Given the description of an element on the screen output the (x, y) to click on. 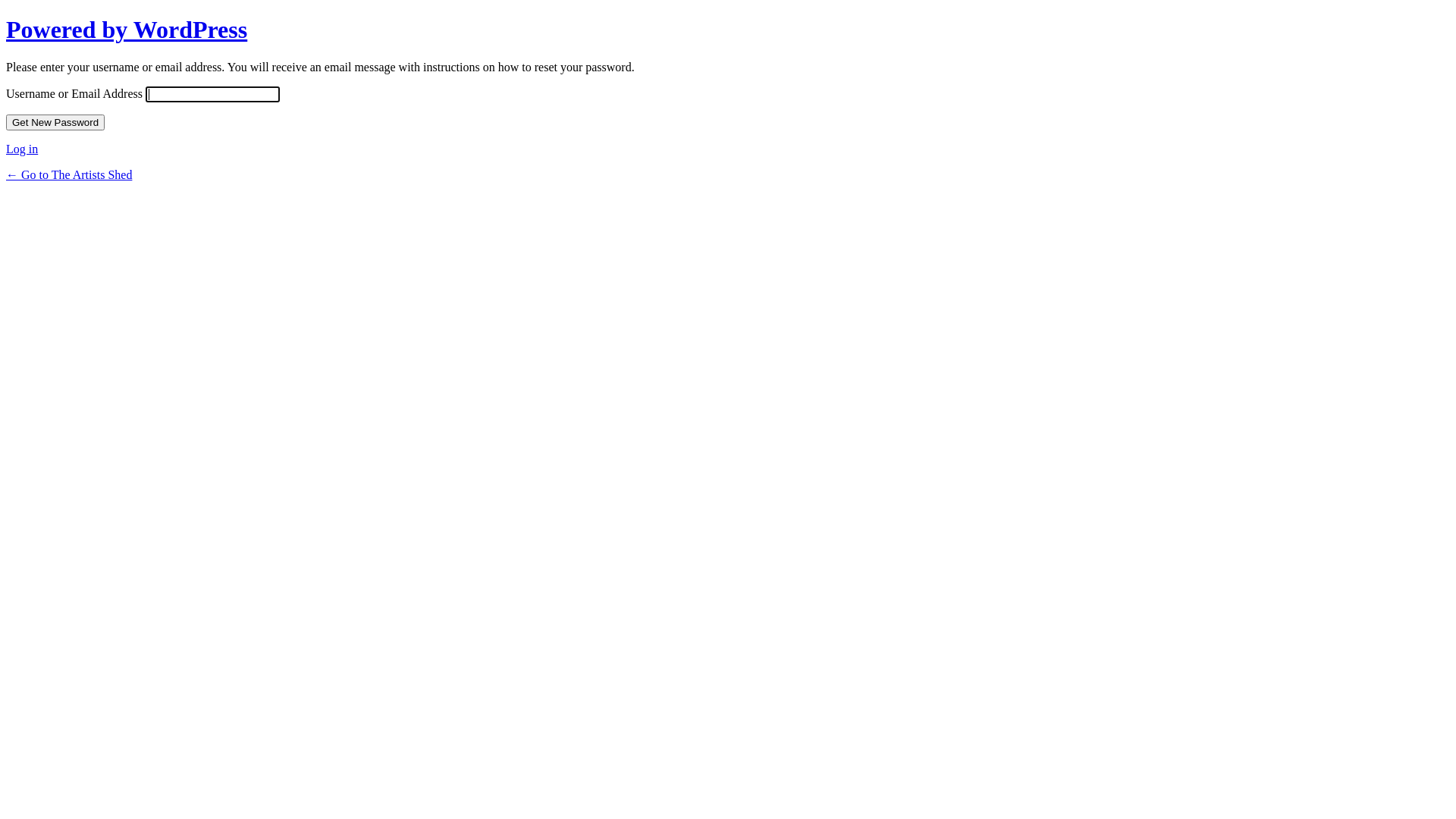
Powered by WordPress Element type: text (126, 29)
Get New Password Element type: text (55, 122)
Log in Element type: text (21, 148)
